Given the description of an element on the screen output the (x, y) to click on. 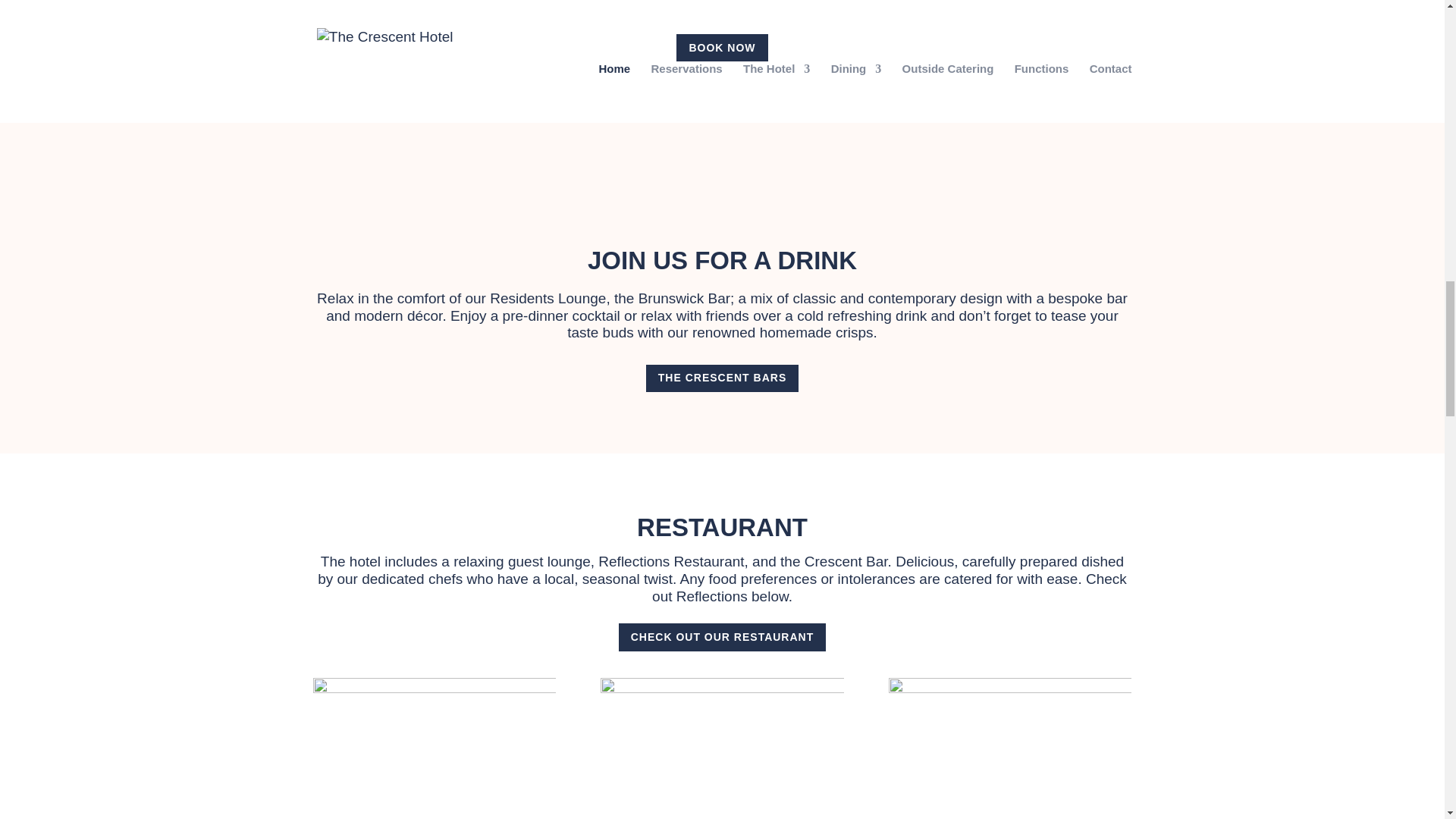
more food-05 (1009, 748)
more food-02 (721, 748)
CHECK OUT OUR RESTAURANT (722, 636)
BOOK NOW (722, 47)
more food-03 (433, 748)
Crescent Bar (846, 561)
THE CRESCENT BARS (721, 378)
